Given the description of an element on the screen output the (x, y) to click on. 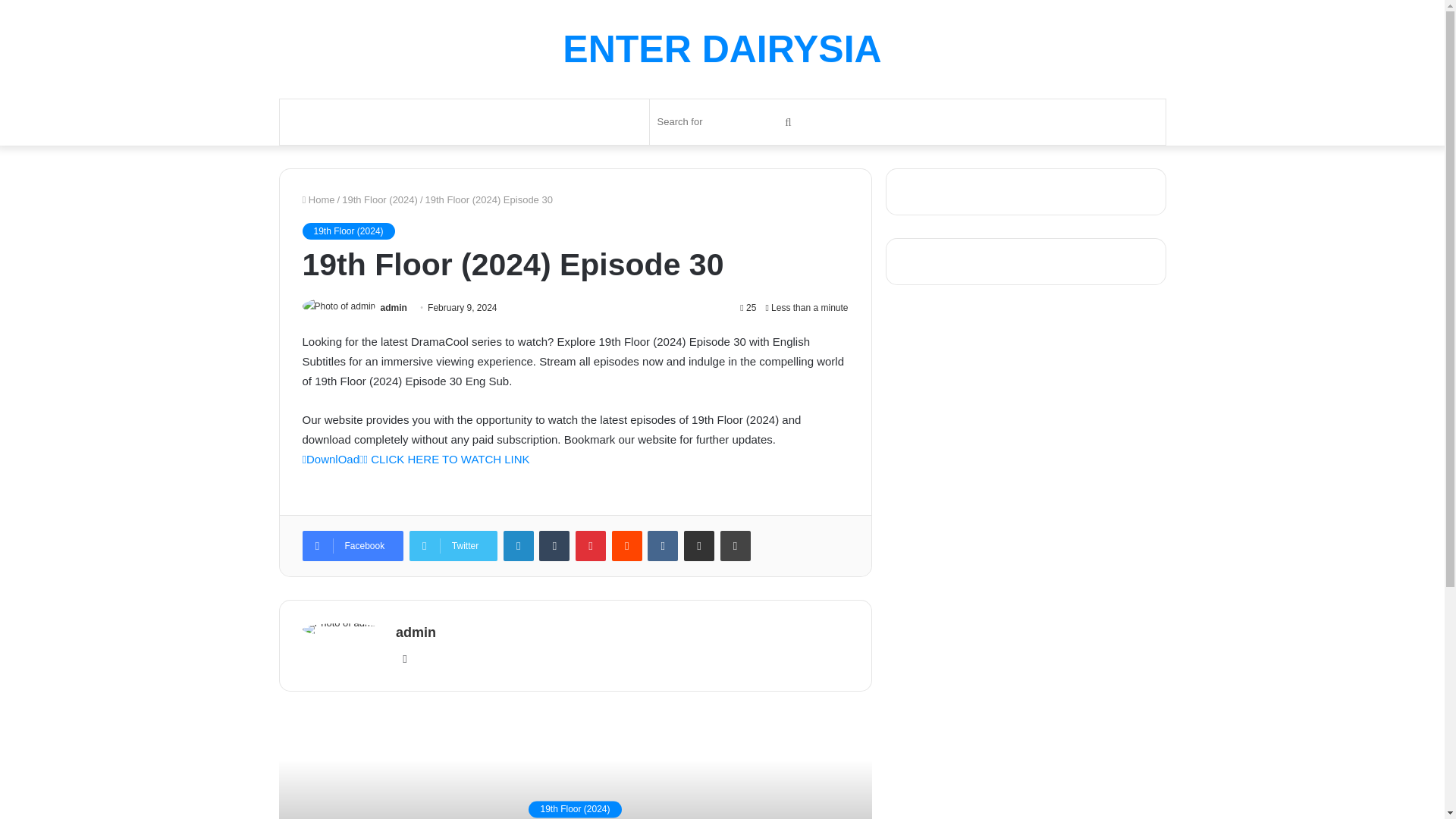
Reddit (626, 545)
Pinterest (590, 545)
Share via Email (699, 545)
Twitter (453, 545)
Tumblr (553, 545)
Home (317, 199)
Tumblr (553, 545)
Print (735, 545)
Facebook (352, 545)
LinkedIn (518, 545)
